Given the description of an element on the screen output the (x, y) to click on. 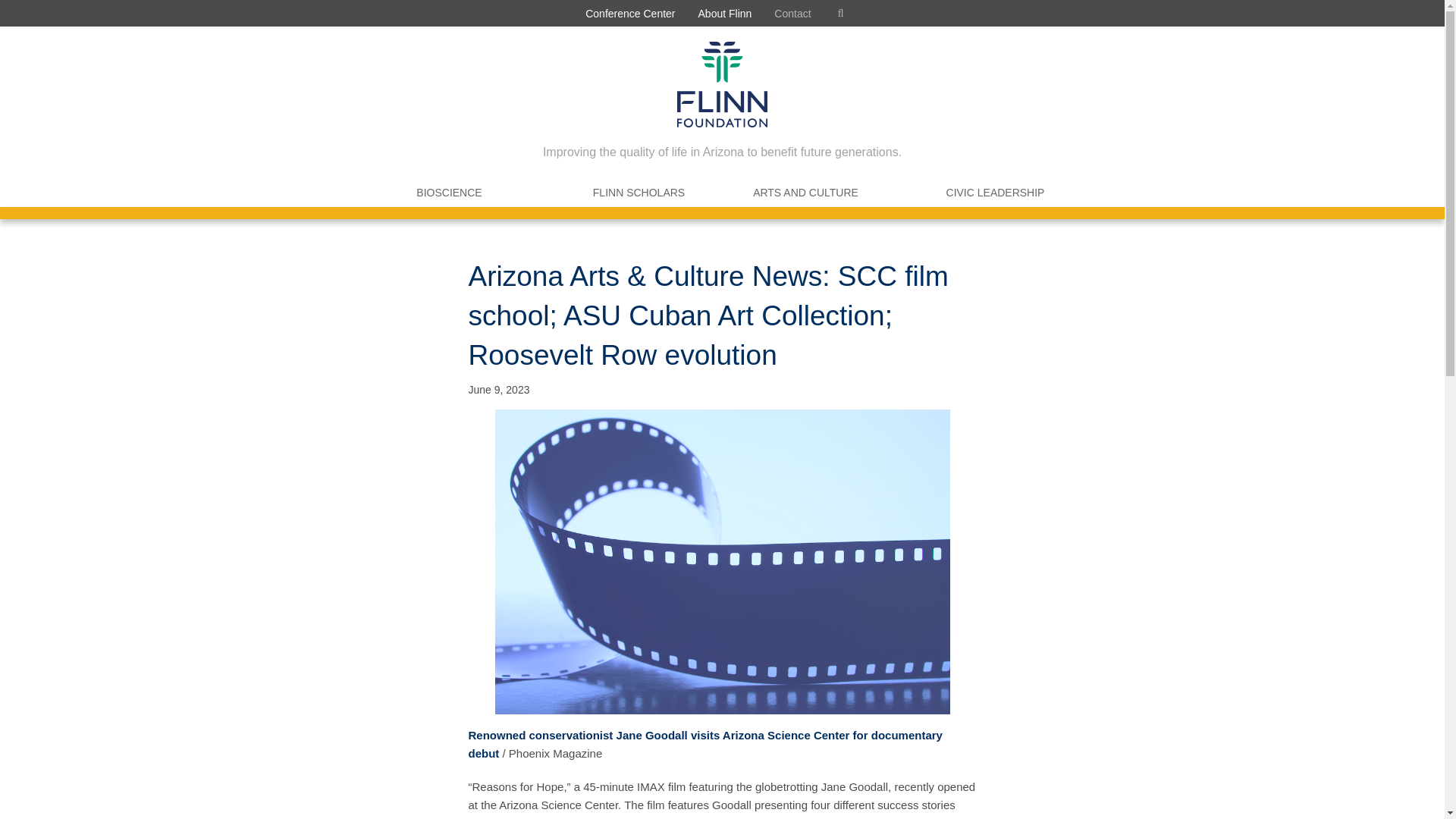
Contact (792, 13)
About Flinn (724, 13)
Conference Center (629, 13)
BIOSCIENCE (448, 192)
